Given the description of an element on the screen output the (x, y) to click on. 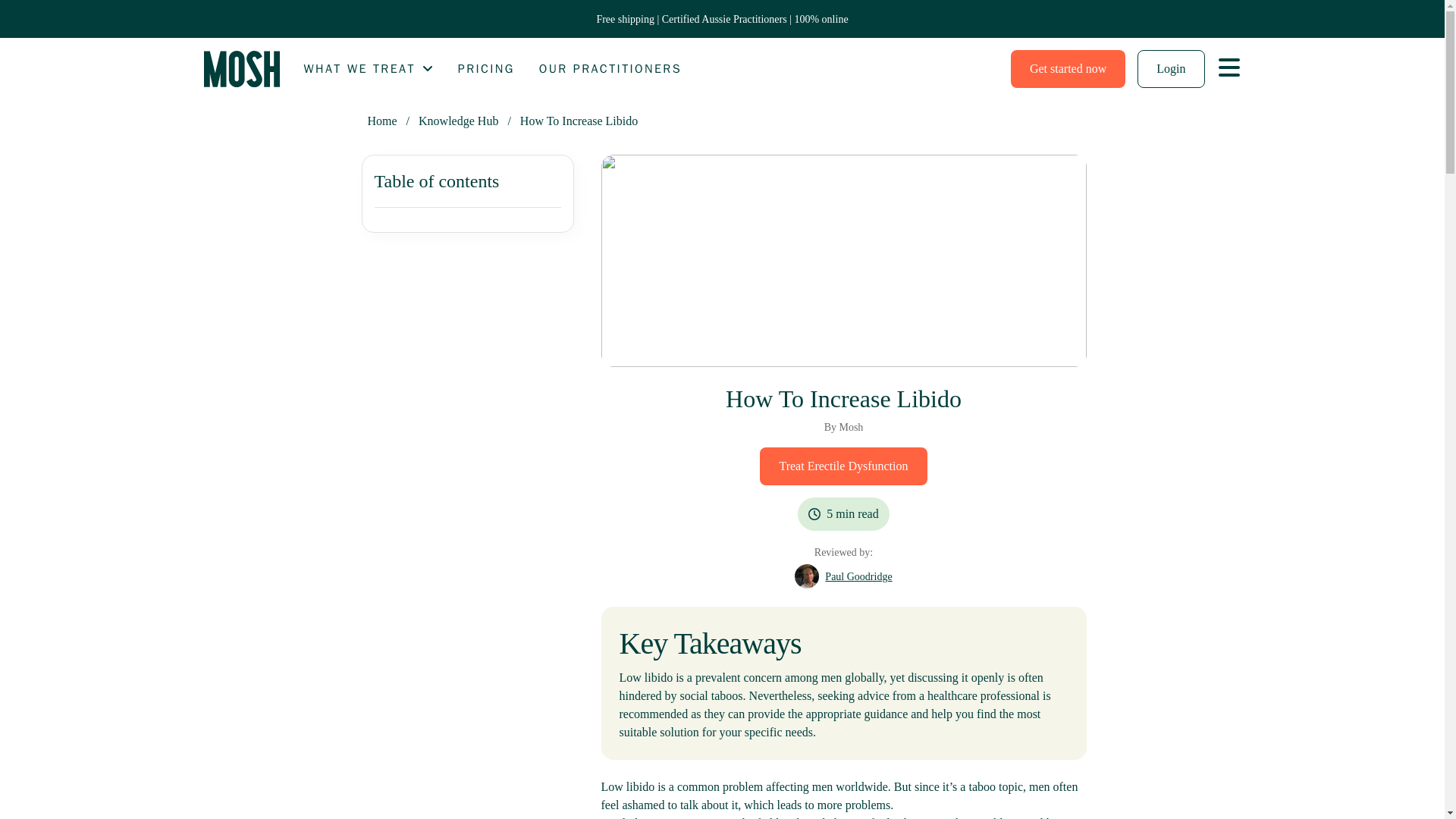
Home (241, 68)
Home (381, 120)
OUR PRACTITIONERS (609, 68)
Pricing (486, 68)
Our practitioners (609, 68)
How To Increase Libido (578, 120)
Login (1170, 68)
Login (1170, 68)
PRICING (486, 68)
Paul Goodridge (858, 576)
